Given the description of an element on the screen output the (x, y) to click on. 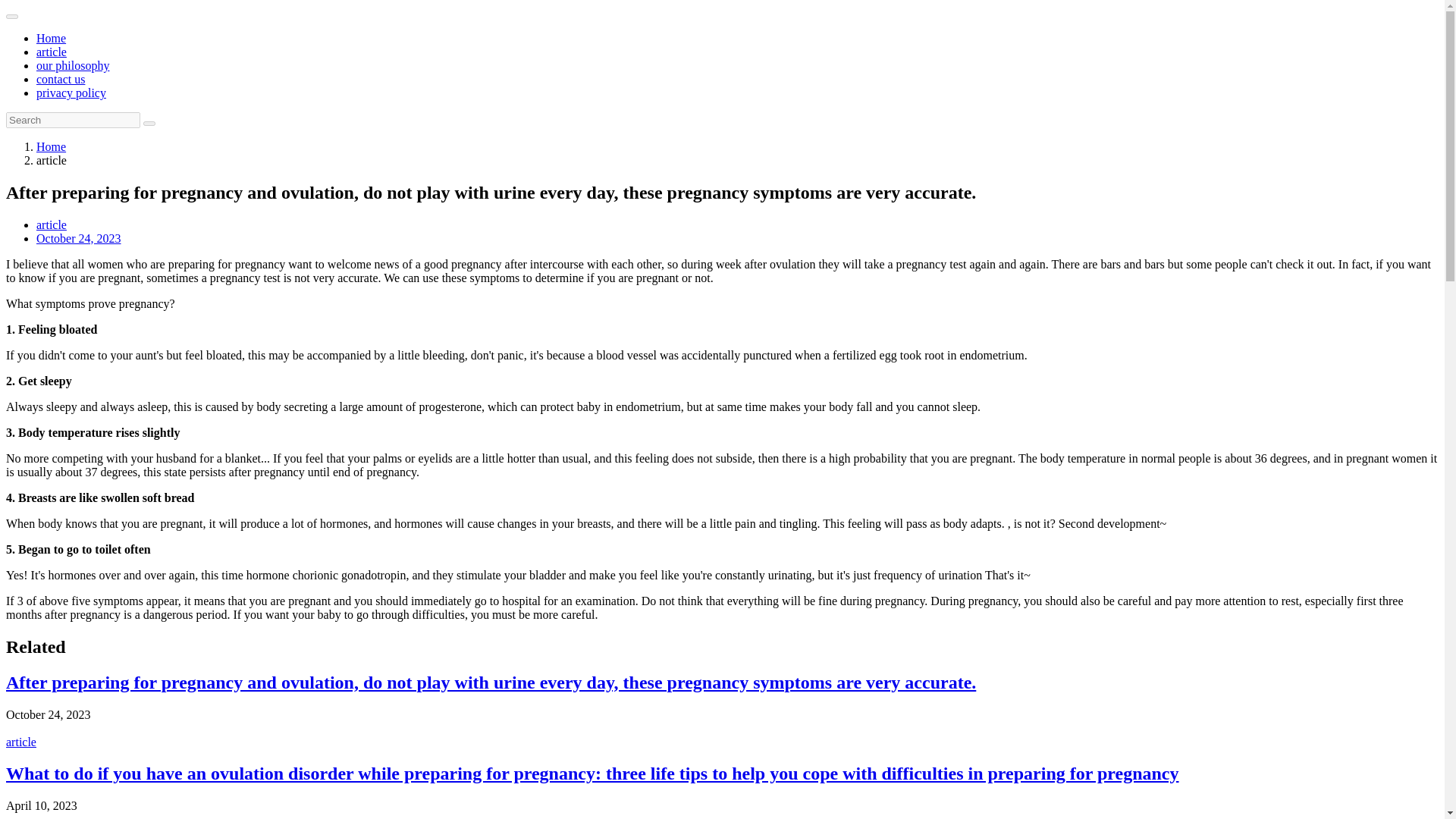
article (51, 224)
contact us (60, 78)
article (51, 51)
privacy policy (71, 92)
October 24, 2023 (78, 237)
our philosophy (72, 65)
Home (50, 146)
Home (50, 38)
article (20, 741)
